Given the description of an element on the screen output the (x, y) to click on. 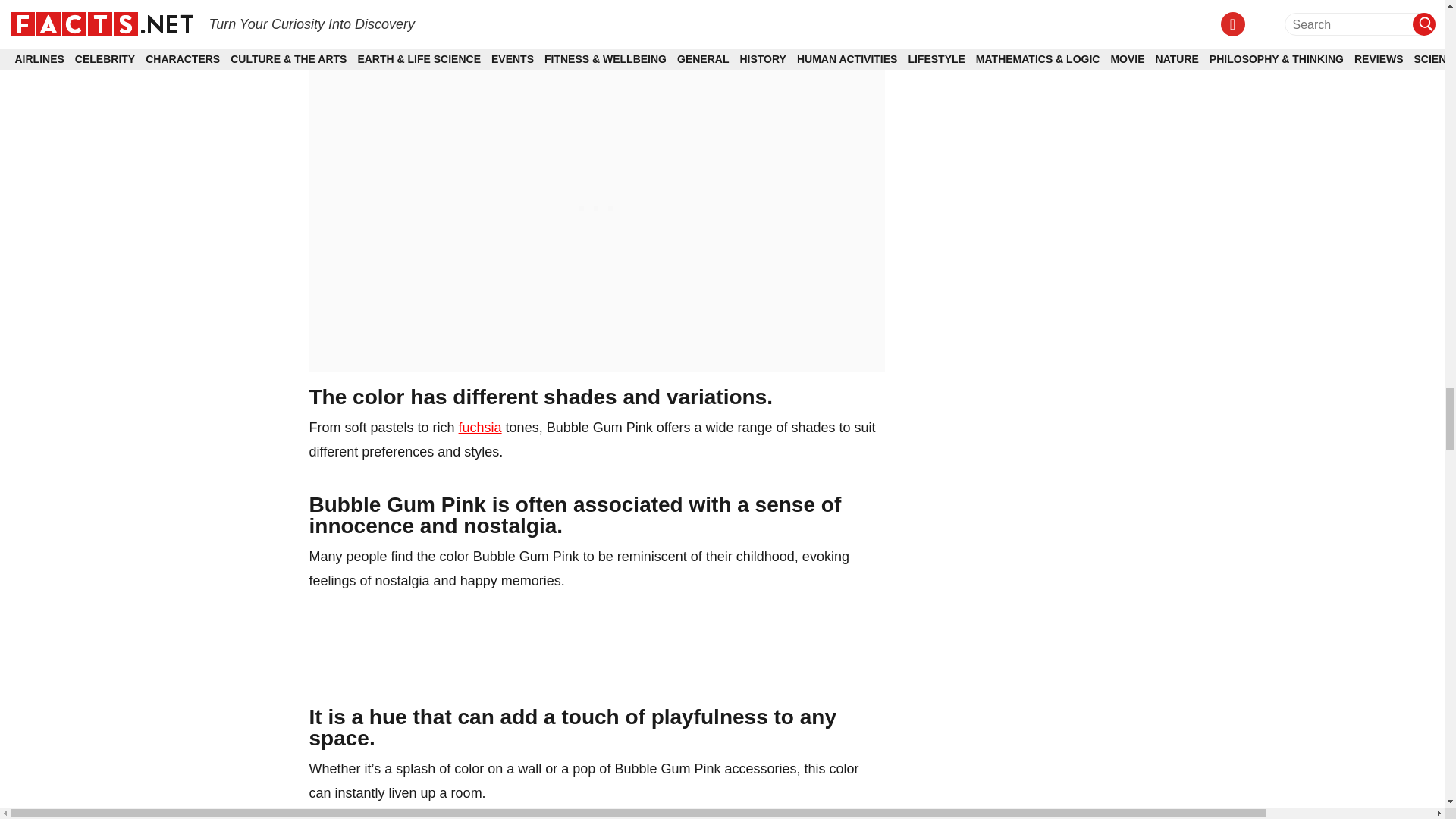
fuchsia (480, 427)
